Given the description of an element on the screen output the (x, y) to click on. 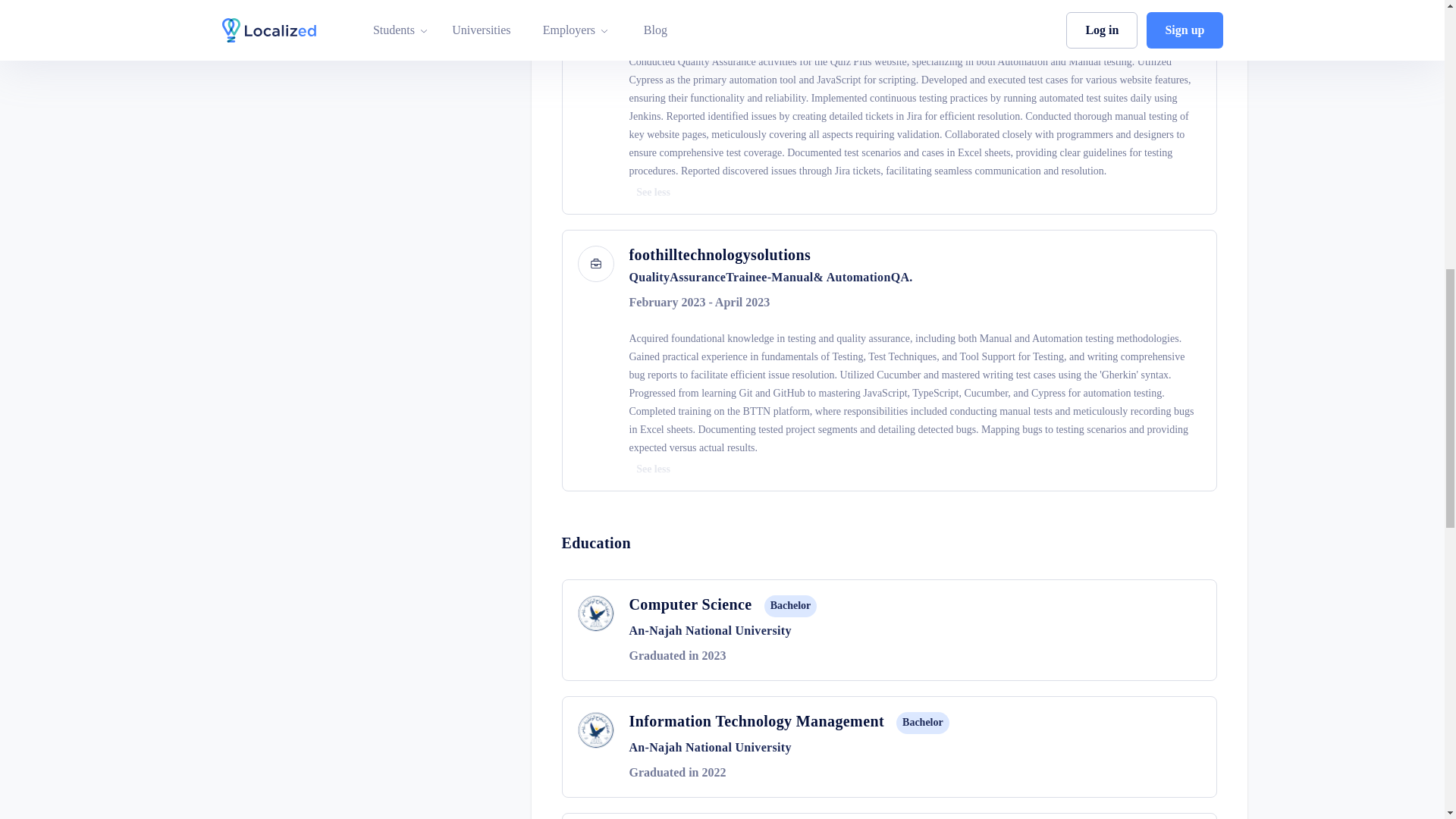
Information Technology Management (756, 722)
See less (653, 192)
Computer Science (690, 606)
See less (653, 469)
